Given the description of an element on the screen output the (x, y) to click on. 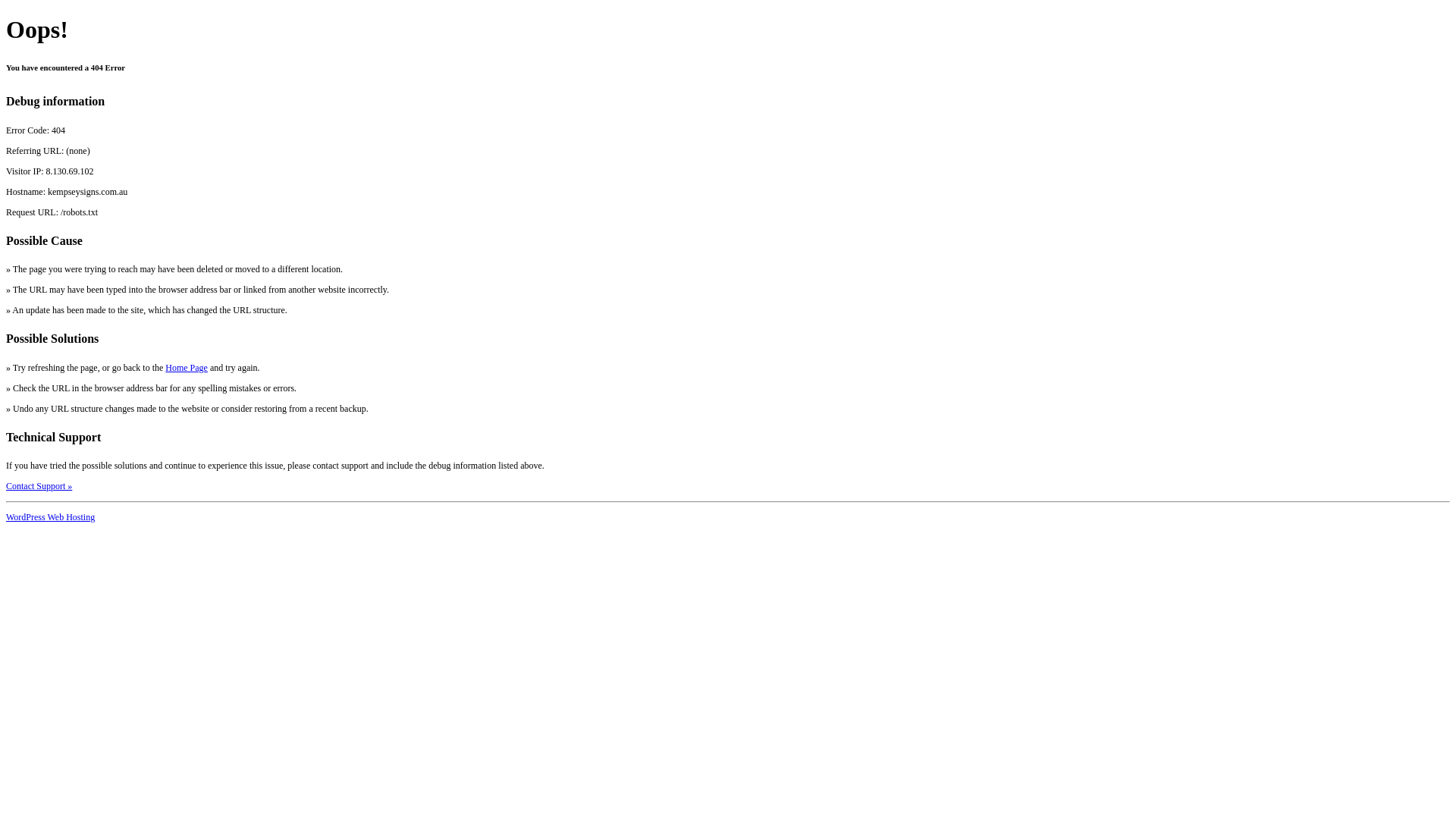
Home Page Element type: text (186, 367)
WordPress Web Hosting Element type: text (50, 516)
